Given the description of an element on the screen output the (x, y) to click on. 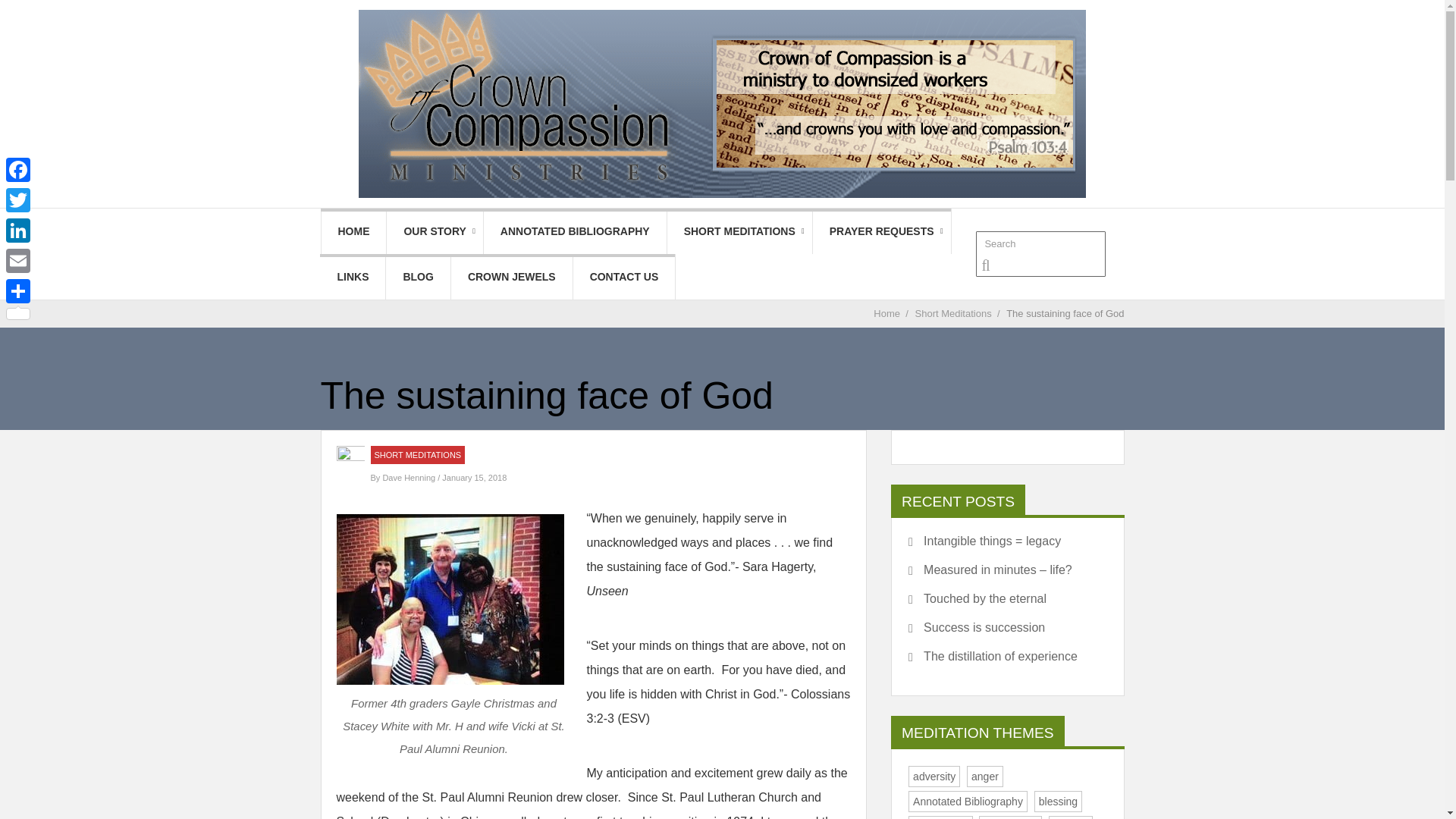
PRAYER REQUESTS (881, 230)
BLOG (417, 276)
CONTACT US (624, 276)
anger (984, 776)
LINKS (352, 276)
blessing (1057, 801)
Annotated Bibliography (967, 801)
SHORT MEDITATIONS (417, 454)
Dave Henning (409, 477)
The distillation of experience (992, 656)
CROWN JEWELS (511, 276)
HOME (354, 230)
OUR STORY (434, 230)
Touched by the eternal (977, 599)
ANNOTATED BIBLIOGRAPHY (574, 230)
